Given the description of an element on the screen output the (x, y) to click on. 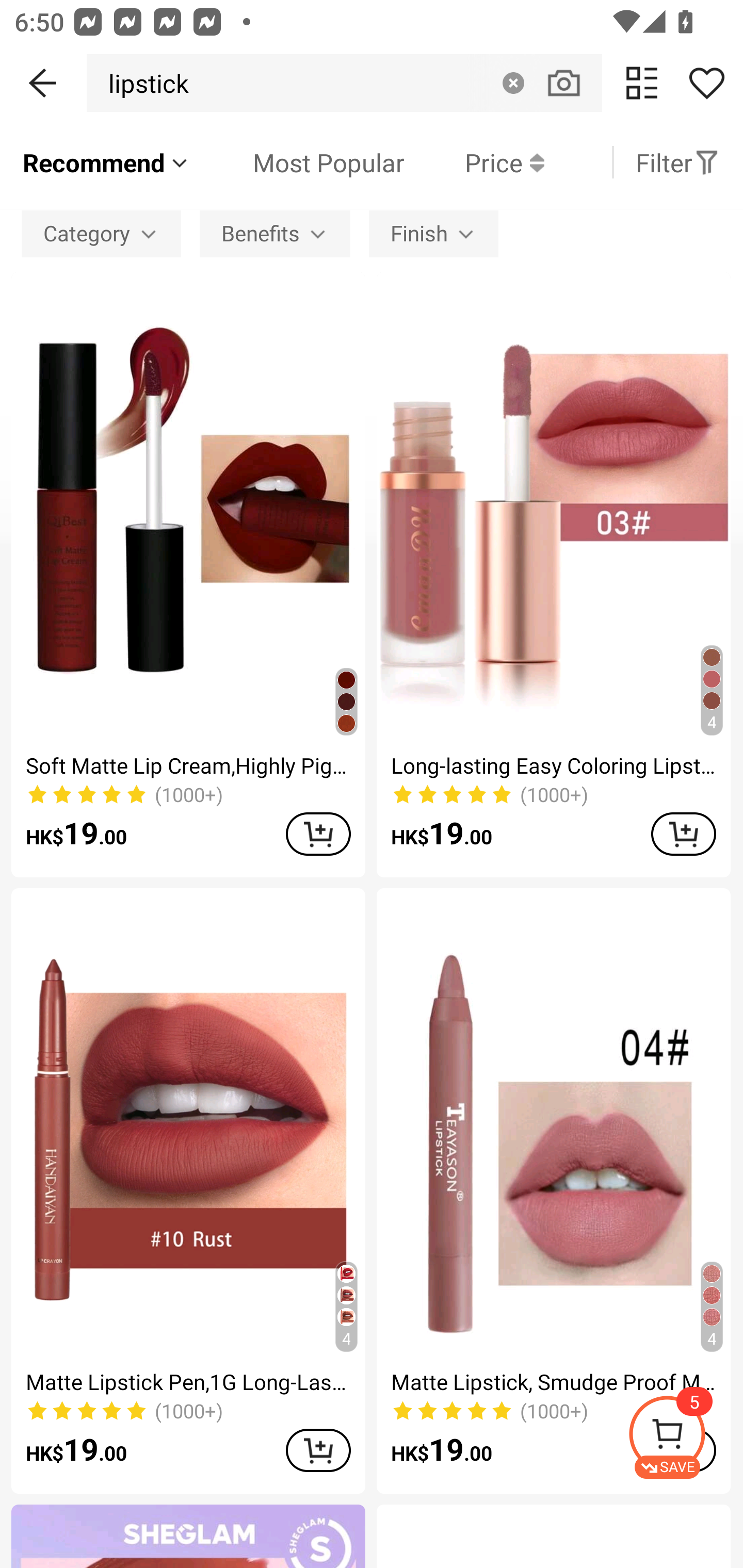
lipstick Clear (343, 82)
lipstick (142, 82)
Clear (513, 82)
change view (641, 82)
Share (706, 82)
Recommend (106, 162)
Most Popular (297, 162)
Price (474, 162)
Filter (677, 162)
Category (101, 233)
Benefits (274, 233)
Finish (433, 233)
ADD TO CART (318, 834)
ADD TO CART (683, 834)
SAVE (685, 1436)
ADD TO CART (318, 1450)
